Given the description of an element on the screen output the (x, y) to click on. 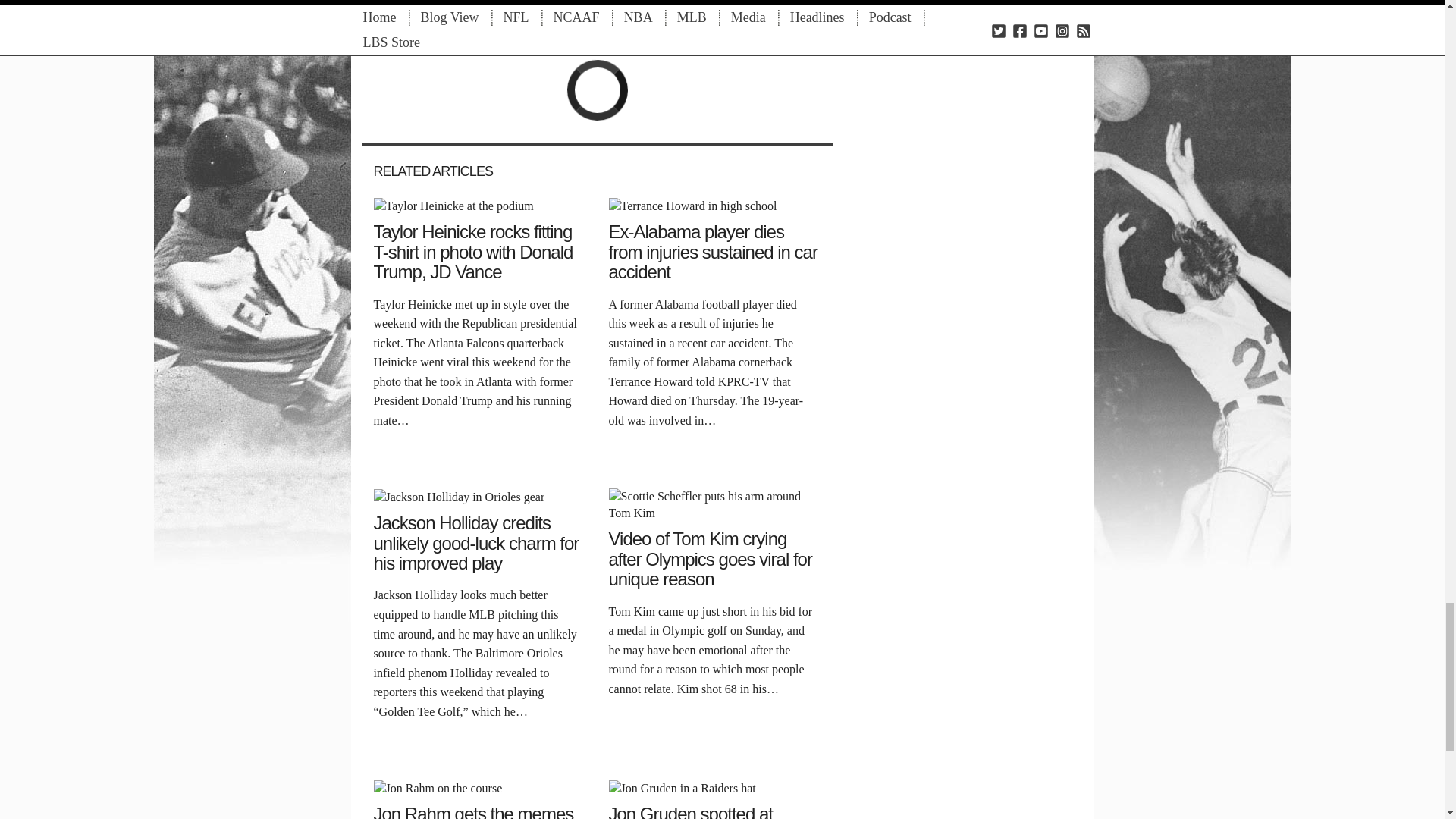
Jon Rahm gets the memes after collapse at Olympics (437, 787)
